Given the description of an element on the screen output the (x, y) to click on. 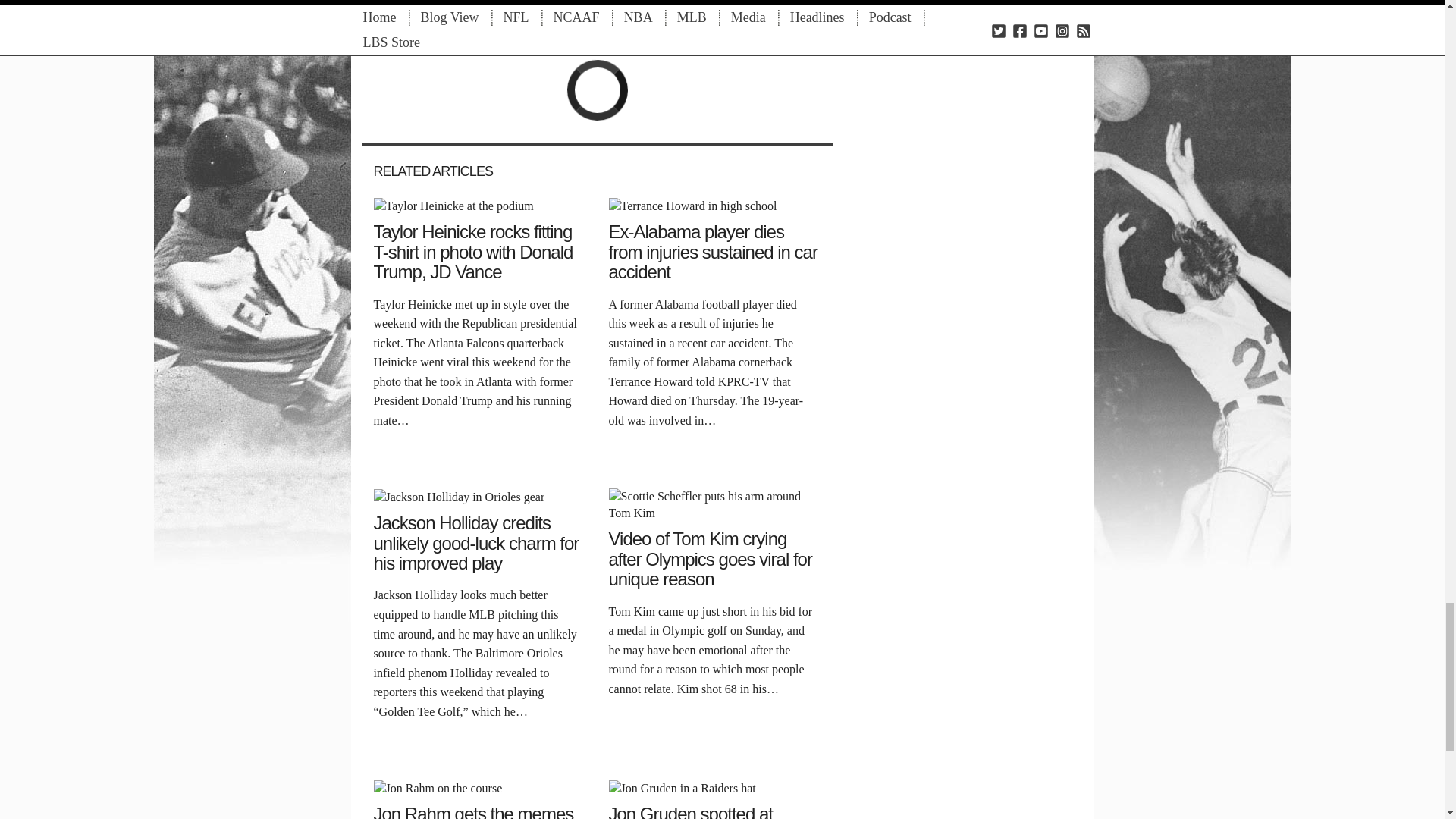
Jon Rahm gets the memes after collapse at Olympics (437, 787)
